Given the description of an element on the screen output the (x, y) to click on. 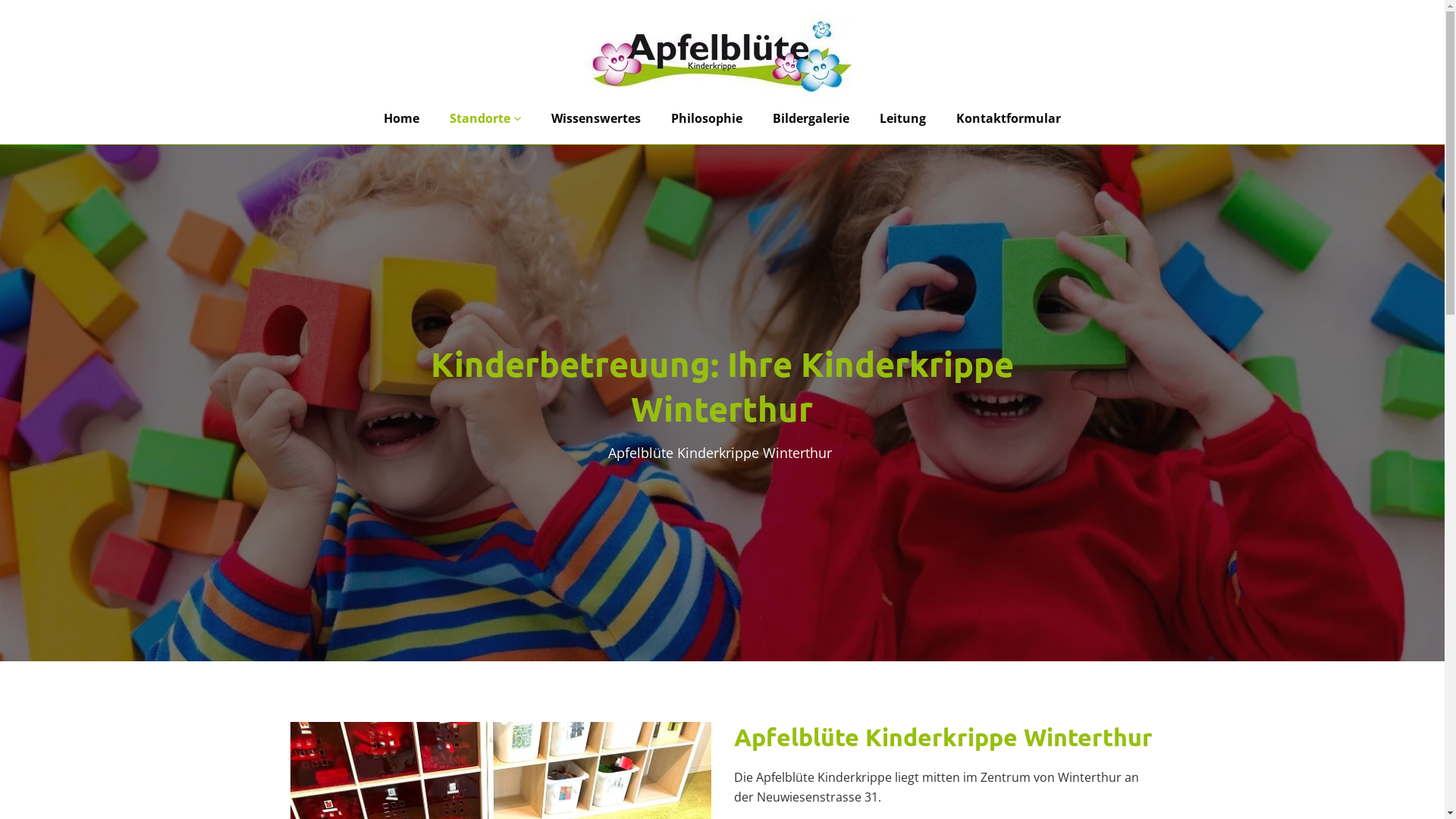
Kontaktformular Element type: text (1008, 118)
Leitung Element type: text (902, 118)
Home Element type: text (401, 118)
Philosophie Element type: text (706, 118)
Standorte Element type: text (484, 118)
Wissenswertes Element type: text (595, 118)
Bildergalerie Element type: text (810, 118)
